Given the description of an element on the screen output the (x, y) to click on. 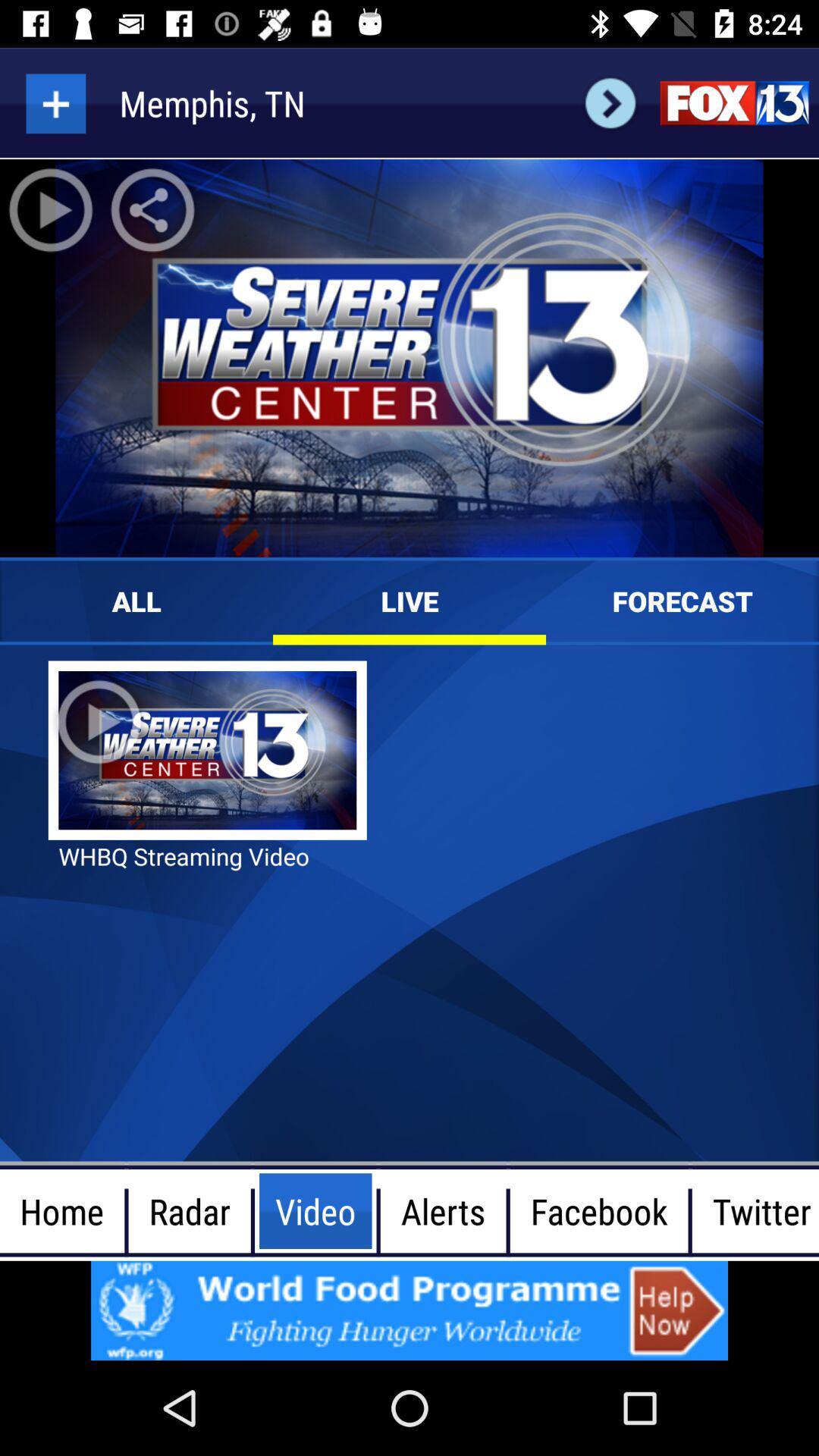
go to next option (610, 103)
